Given the description of an element on the screen output the (x, y) to click on. 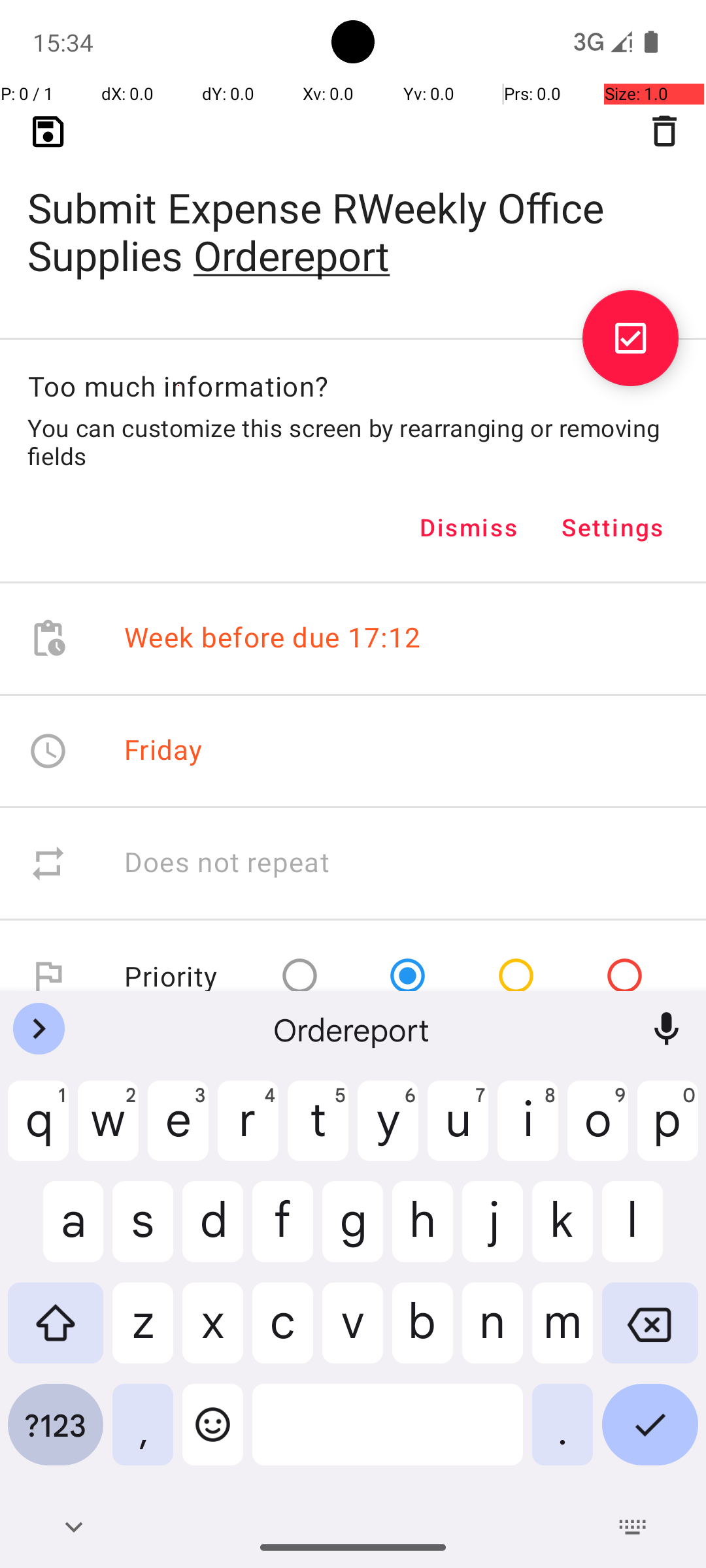
Submit Expense RWeekly Office Supplies Ordereport Element type: android.widget.EditText (353, 210)
Week before due 17:12 Element type: android.widget.TextView (272, 638)
Ordereport Element type: android.widget.FrameLayout (352, 1028)
